Given the description of an element on the screen output the (x, y) to click on. 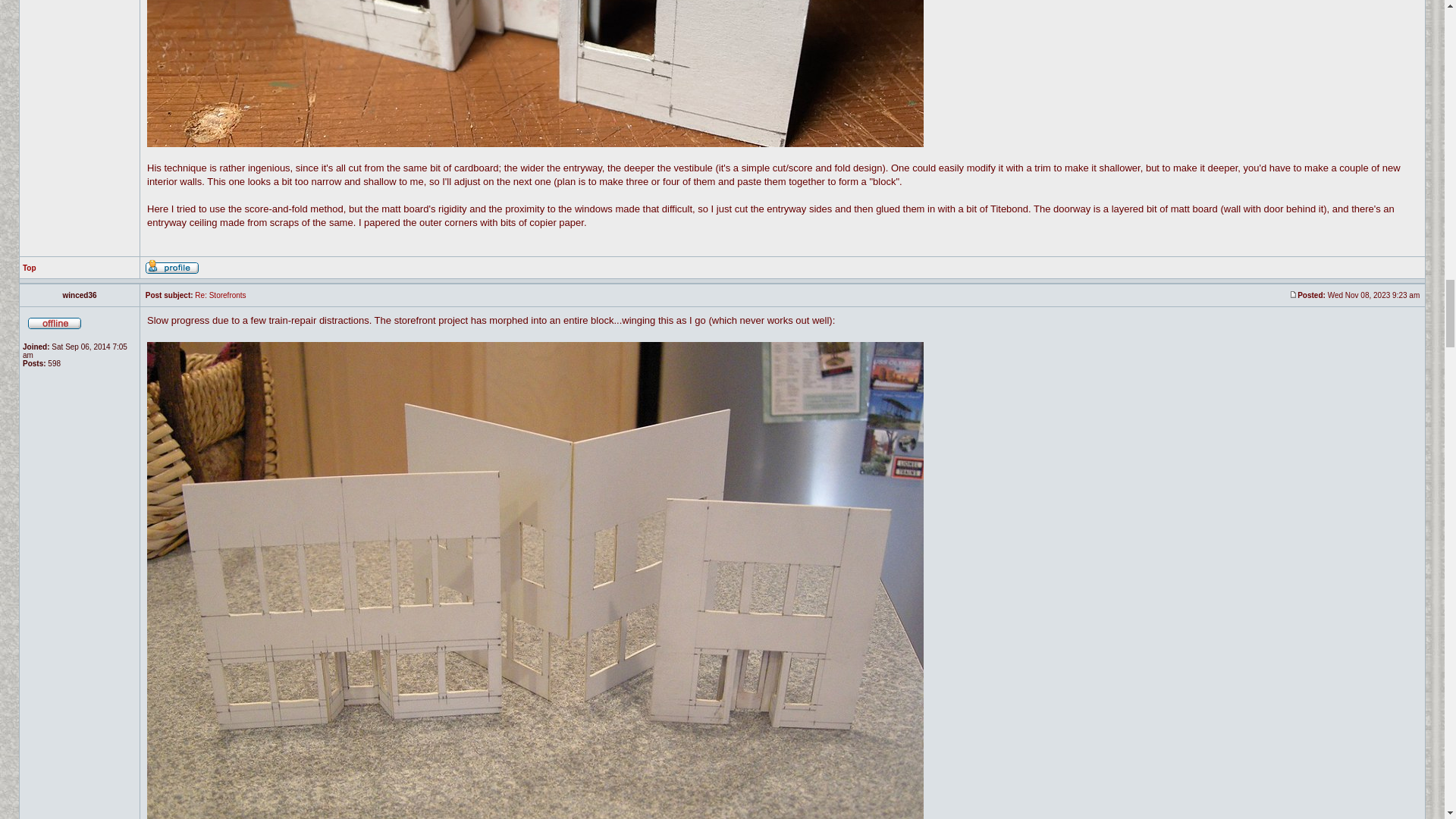
Top (29, 267)
Profile (171, 266)
Offline (54, 322)
Post (1292, 294)
